Given the description of an element on the screen output the (x, y) to click on. 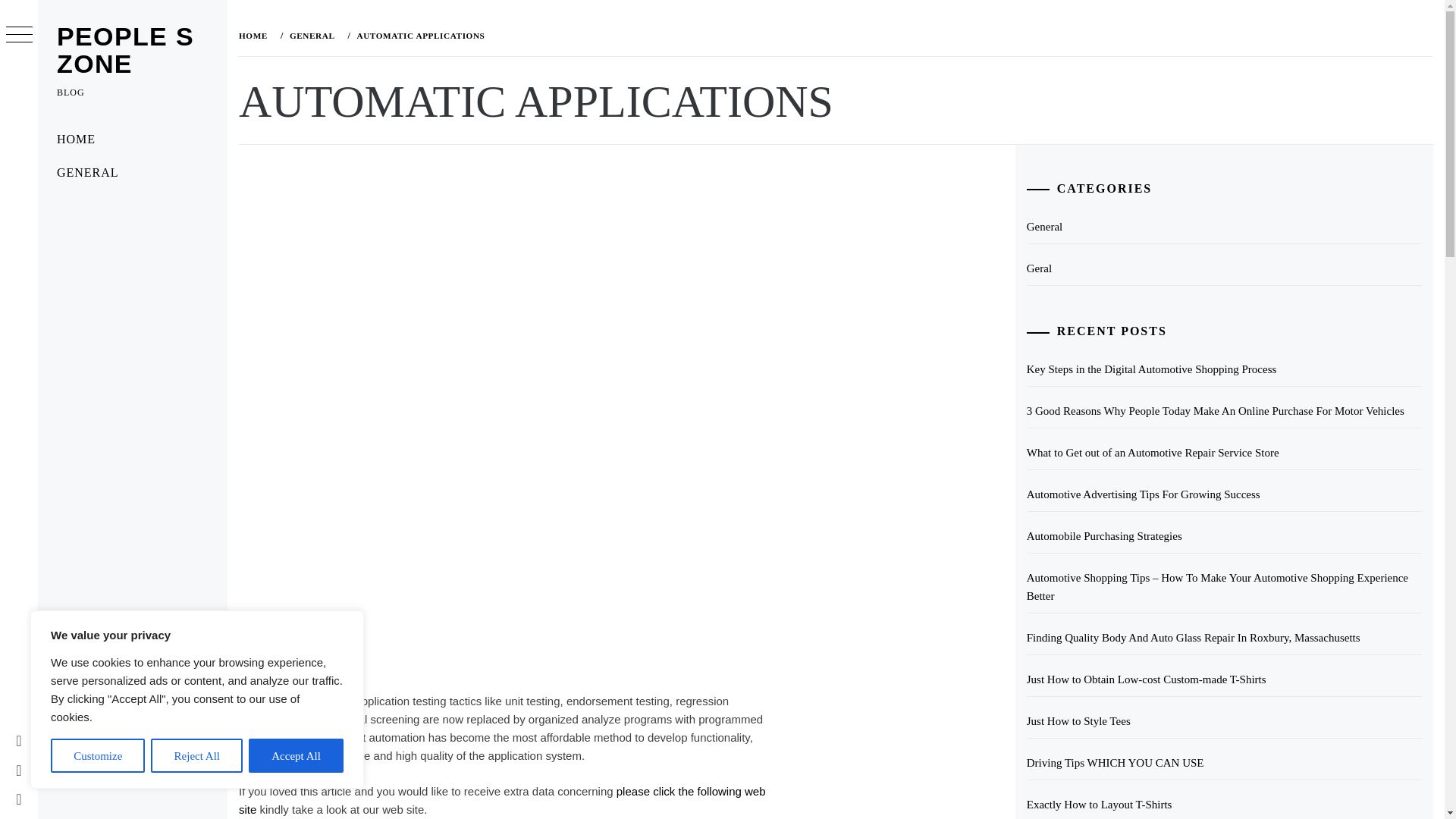
Reject All (197, 755)
GENERAL (132, 172)
HOME (132, 139)
Customize (97, 755)
GENERAL (310, 35)
HOME (255, 35)
AUTOMATIC APPLICATIONS (418, 35)
PEOPLE S ZONE (124, 49)
Accept All (295, 755)
please click the following web site (501, 799)
